Given the description of an element on the screen output the (x, y) to click on. 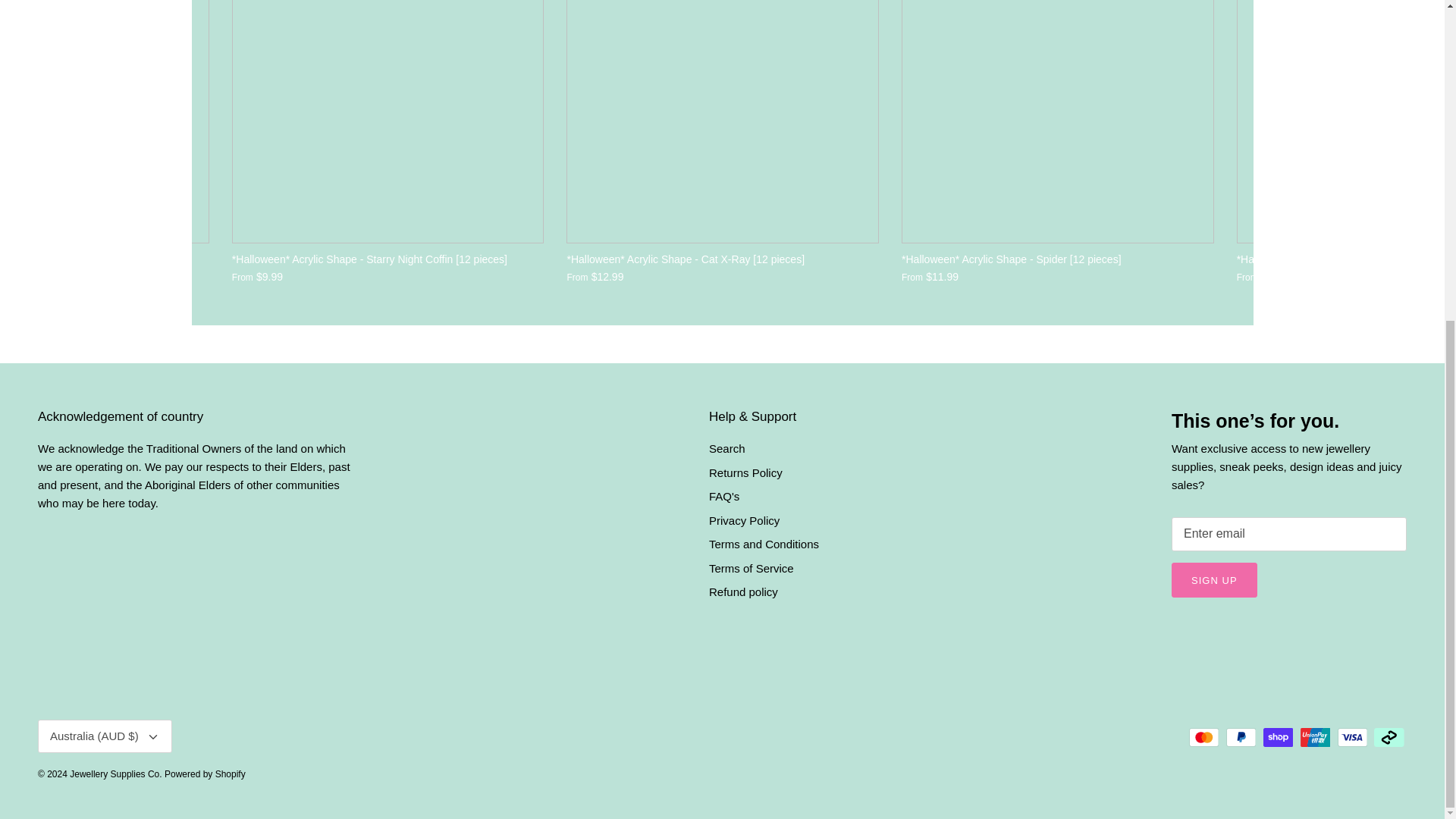
Mastercard (1203, 737)
Down (153, 736)
Union Pay (1315, 737)
PayPal (1240, 737)
Shop Pay (1277, 737)
Visa (1352, 737)
